Given the description of an element on the screen output the (x, y) to click on. 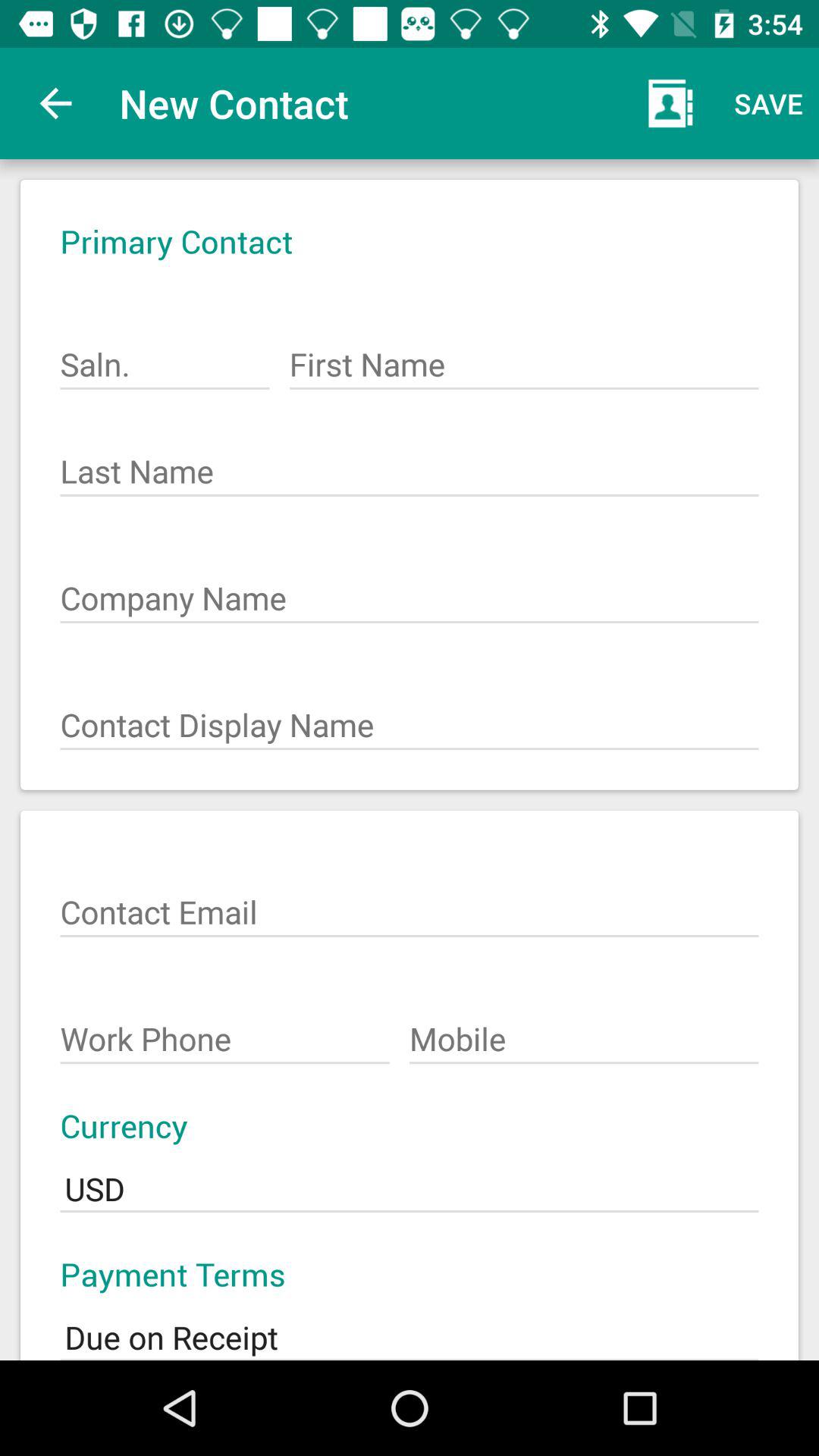
press item next to the new contact item (670, 103)
